Given the description of an element on the screen output the (x, y) to click on. 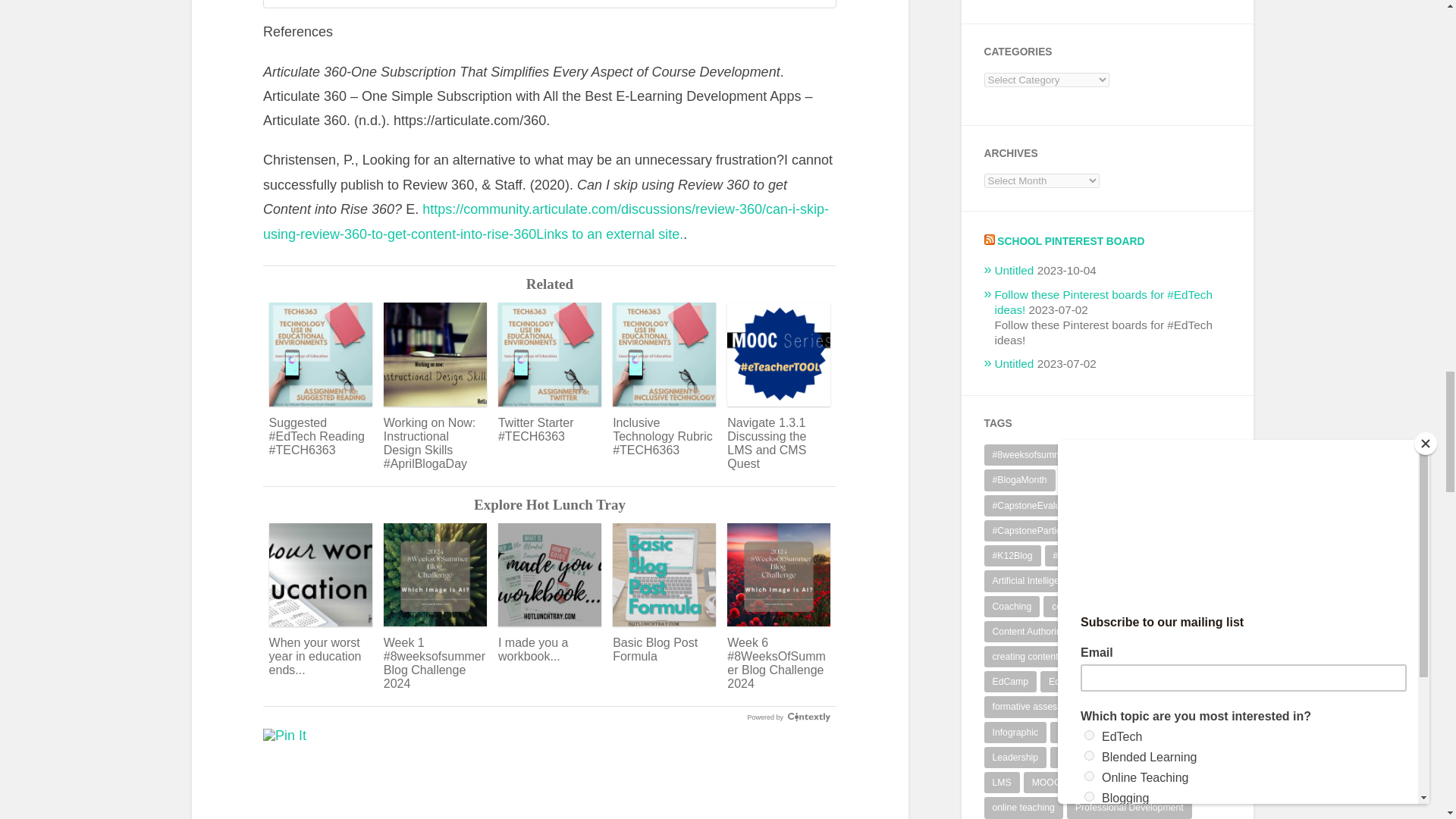
Powered by (787, 716)
Links to an external site. (608, 233)
Pin It (284, 735)
